Given the description of an element on the screen output the (x, y) to click on. 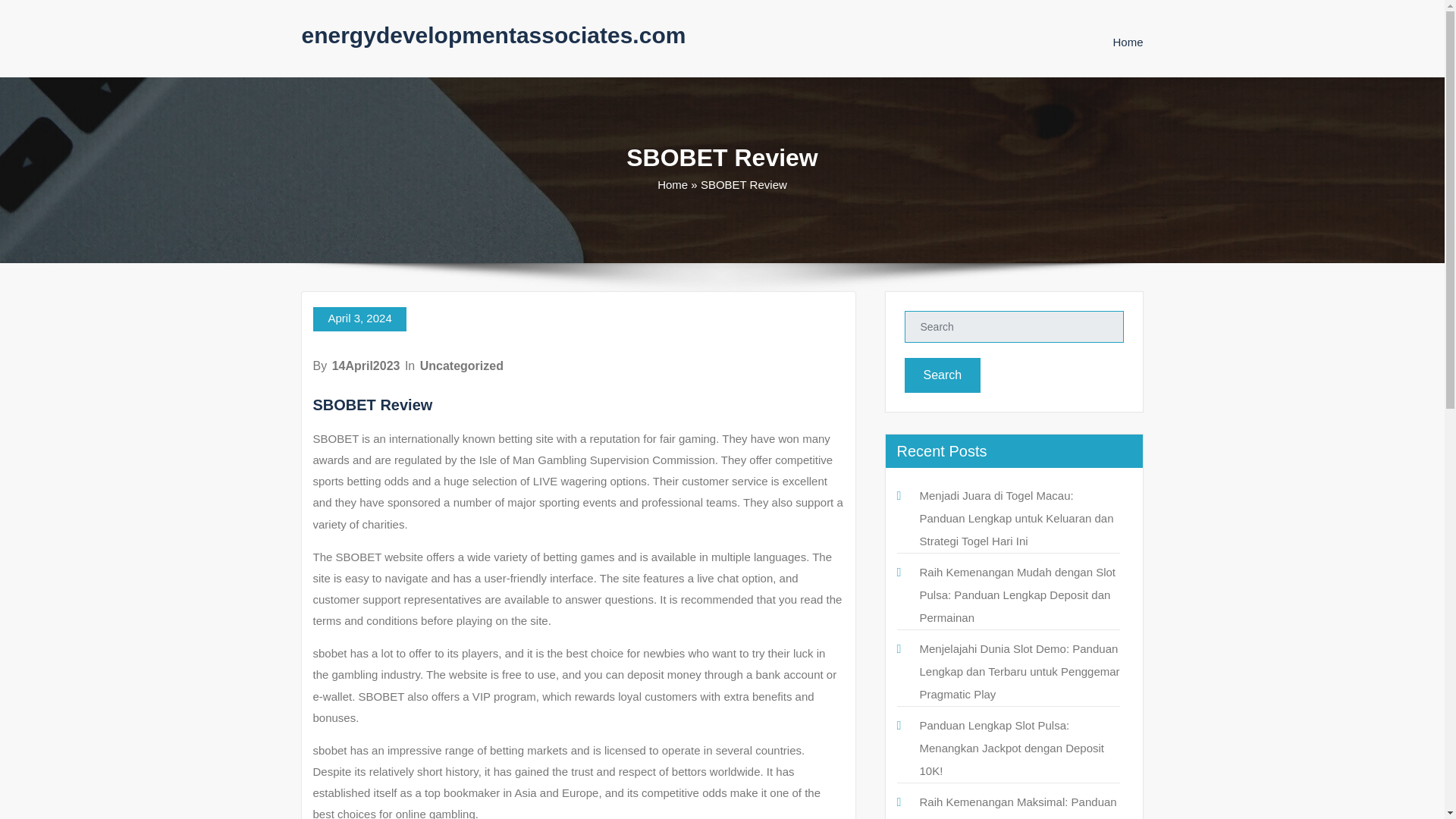
Home (672, 184)
14April2023 (365, 365)
Uncategorized (462, 365)
Home (1127, 41)
energydevelopmentassociates.com (493, 34)
